Given the description of an element on the screen output the (x, y) to click on. 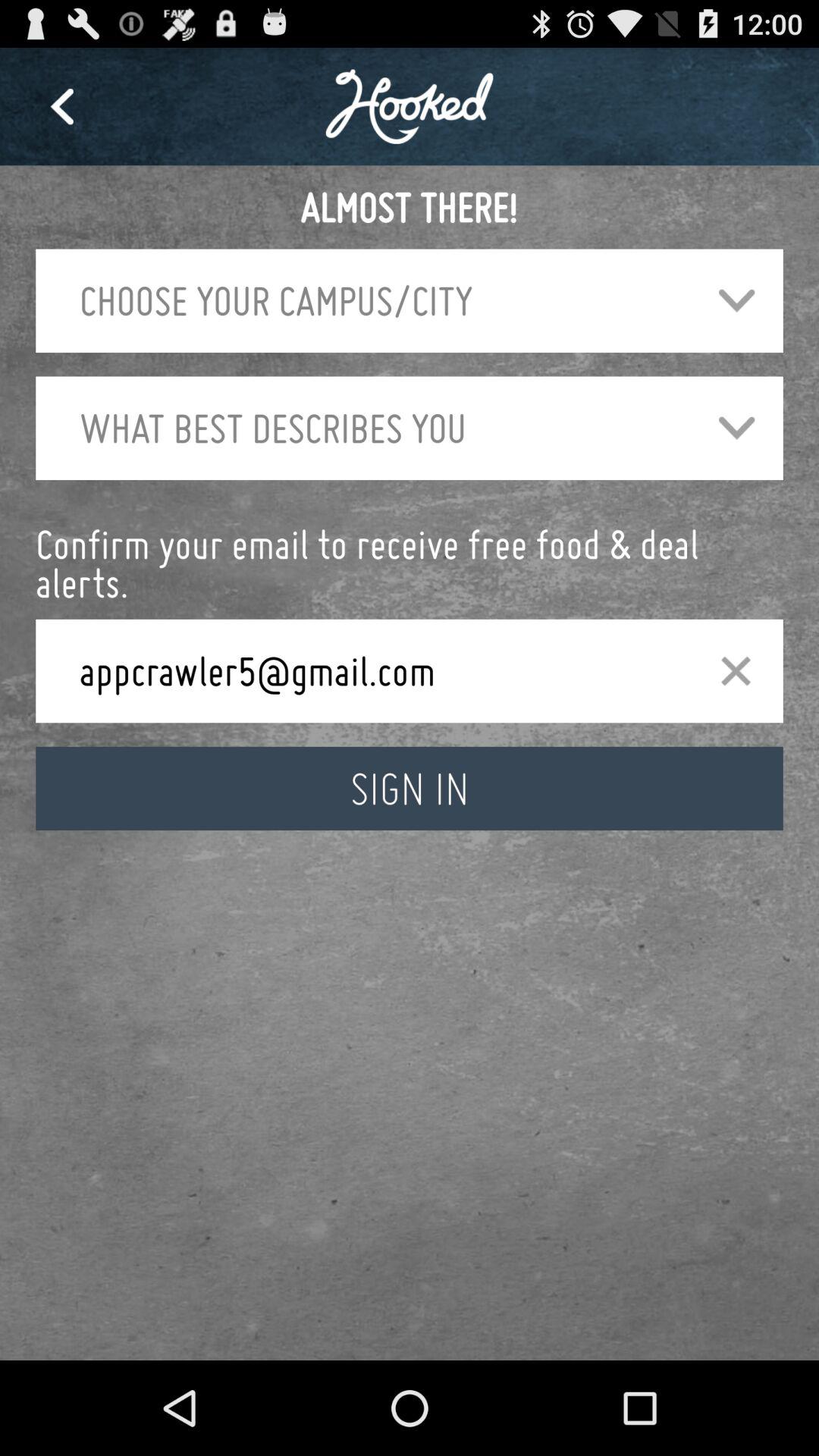
turn off the button above the sign in item (735, 670)
